Given the description of an element on the screen output the (x, y) to click on. 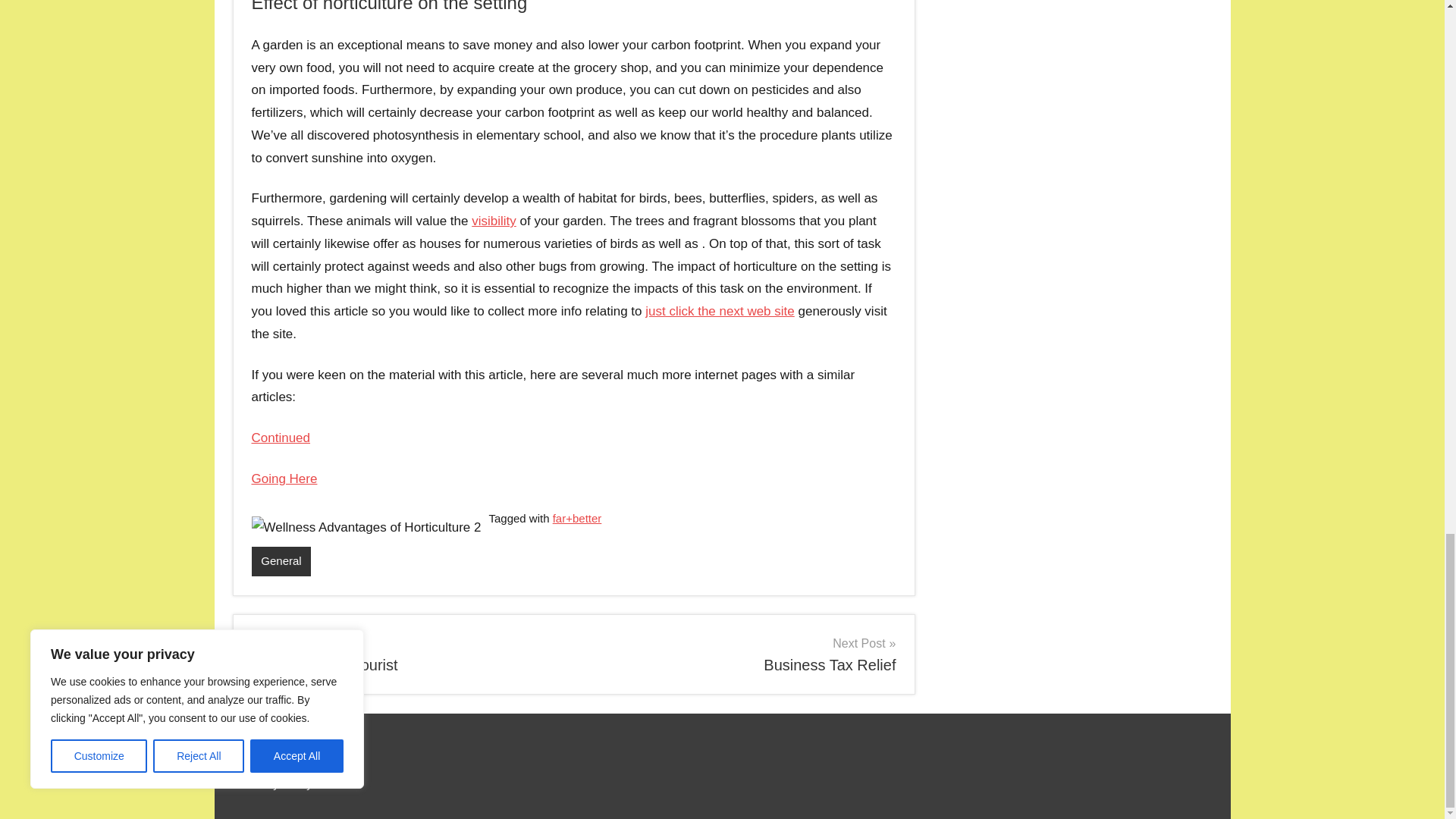
Continued (281, 437)
General (406, 654)
visibility (740, 654)
just click the next web site (281, 561)
Going Here (493, 220)
